Given the description of an element on the screen output the (x, y) to click on. 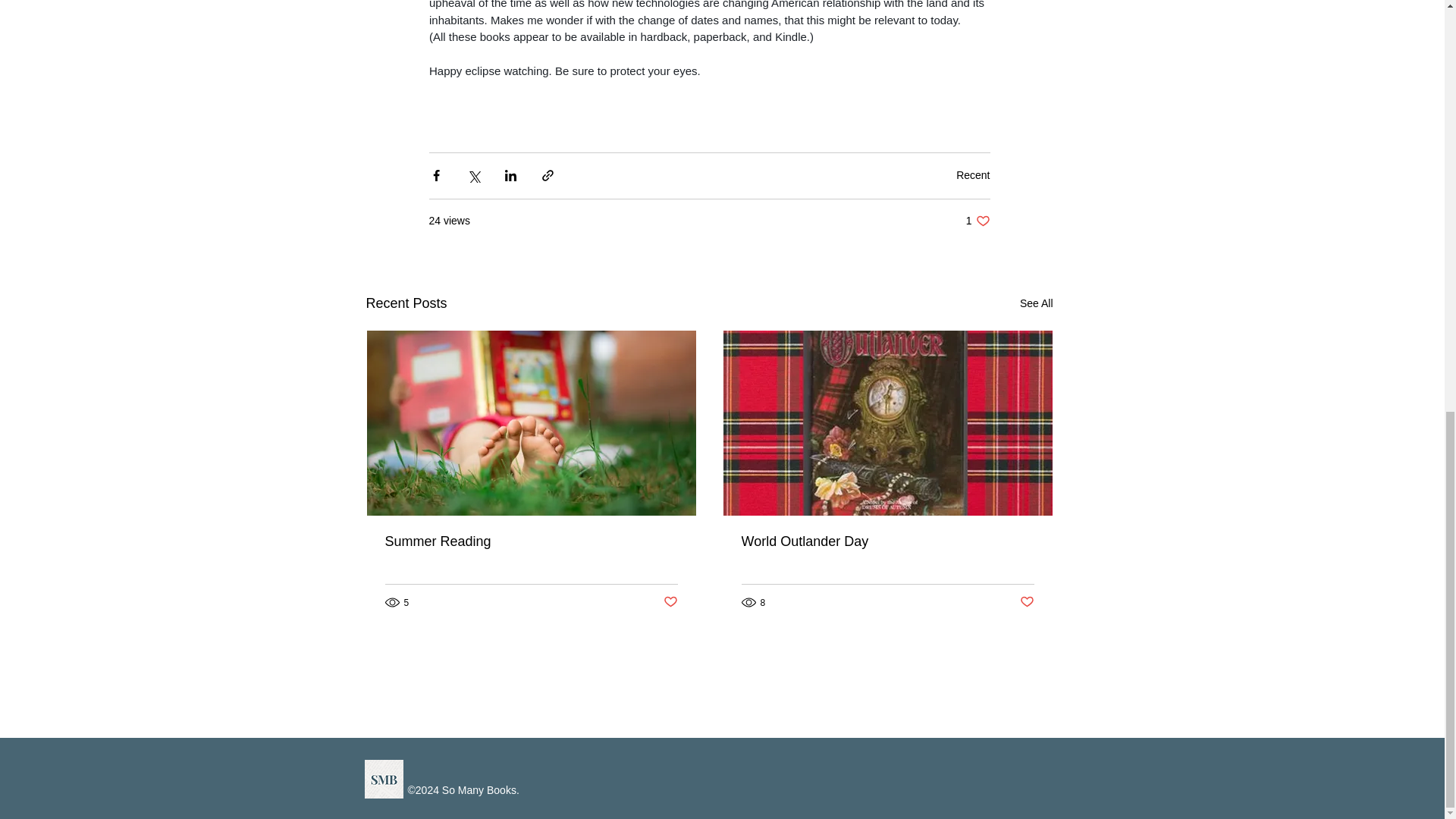
Summer Reading (978, 220)
Recent (531, 541)
Post not marked as liked (973, 174)
Post not marked as liked (669, 602)
World Outlander Day (1026, 602)
See All (887, 541)
